Given the description of an element on the screen output the (x, y) to click on. 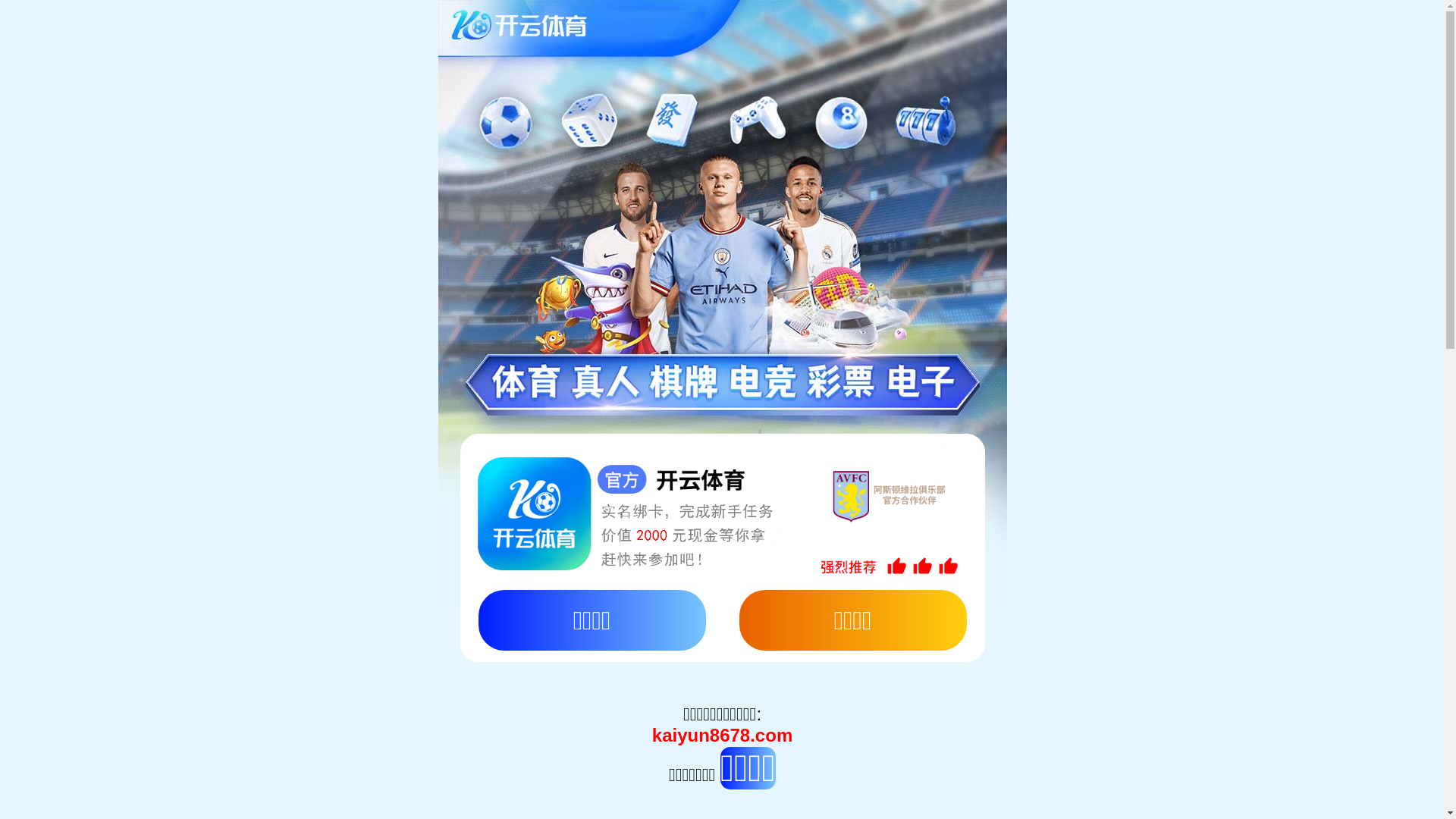
ENGLISH Element type: text (299, 26)
  Element type: text (1164, 27)
